Given the description of an element on the screen output the (x, y) to click on. 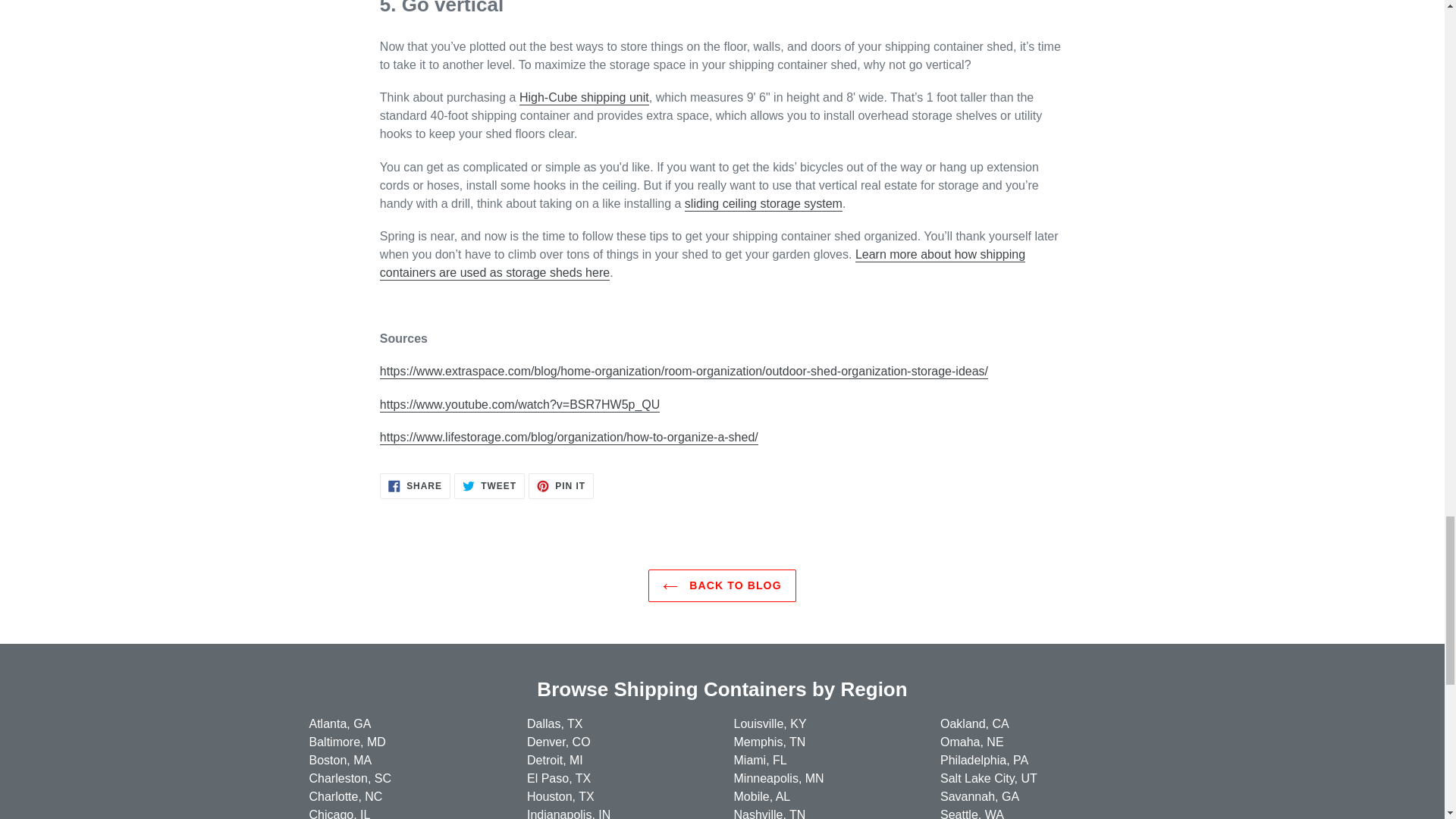
Buy Shipping Containers in Detroit, MI (555, 759)
Buy Shipping Containers in Boston, Massachusetts (340, 759)
40 ft High Cube Shipping Container (584, 97)
Buy Shipping Containers in Atlanta, Georgia (339, 723)
Do Shipping Containers Make Good Storage Sheds (702, 264)
Buy Shipping Containers in Chicago, IL (339, 813)
Buy Shipping Containers in Houston, TX (560, 796)
Buy Shipping Containers in Charleston, SC (349, 778)
Buy Shipping Containers in Baltimore, Maryland (346, 741)
Buy Shipping Containers in Charlotte, NC (345, 796)
Buy Shipping Containers in Denver, CO (559, 741)
Buy Shipping Containers in El Paso, TX (559, 778)
Buy Shipping Containers in Dallas, TX (555, 723)
Buy Shipping Containers in Indianapolis, IN (568, 813)
